Given the description of an element on the screen output the (x, y) to click on. 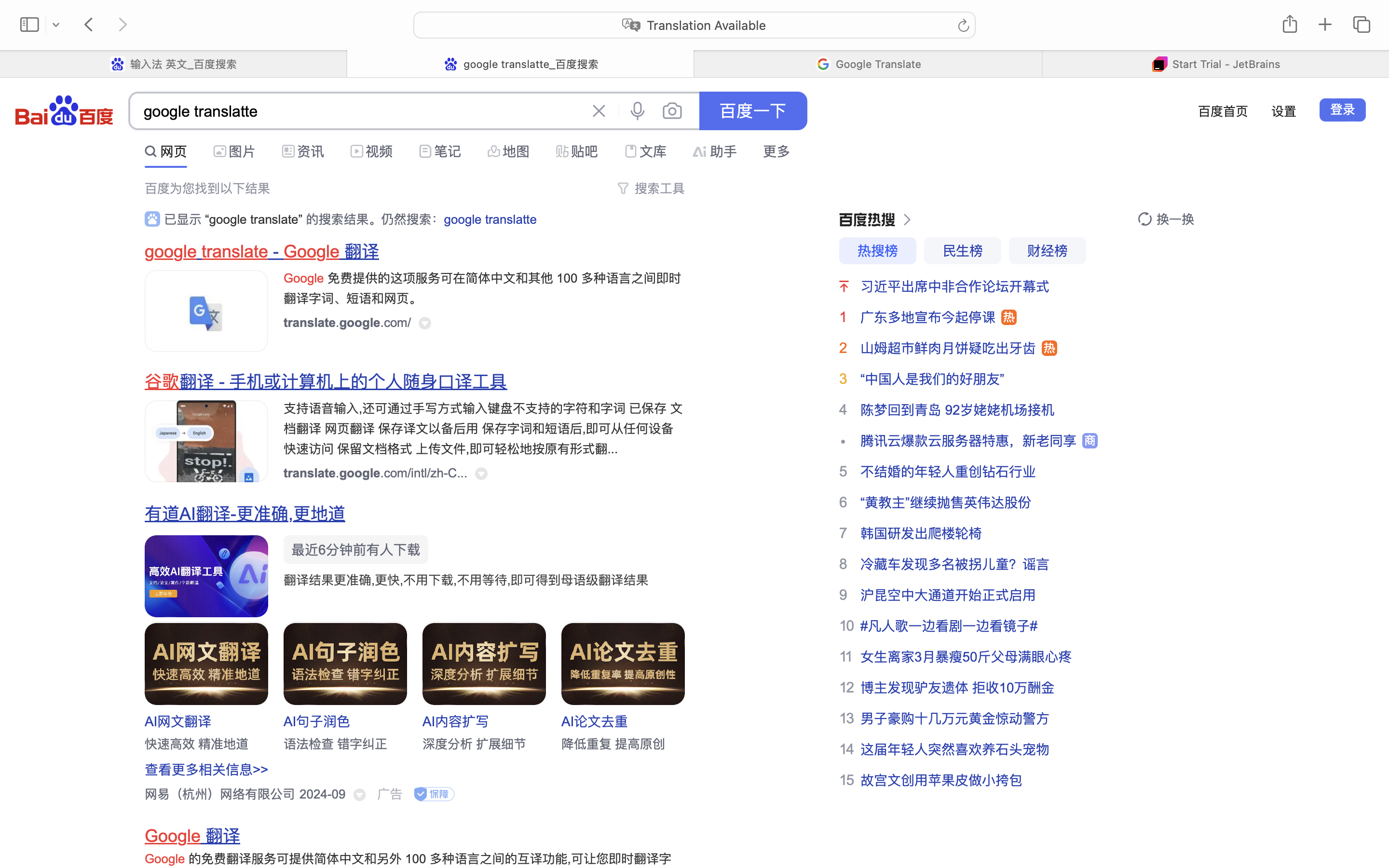
google Element type: AXStaticText (170, 251)
降低重复 提高原创 Element type: AXStaticText (613, 743)
已显示 Element type: AXStaticText (184, 219)
设置 Element type: AXStaticText (1283, 111)
 Element type: AXStaticText (903, 219)
